Given the description of an element on the screen output the (x, y) to click on. 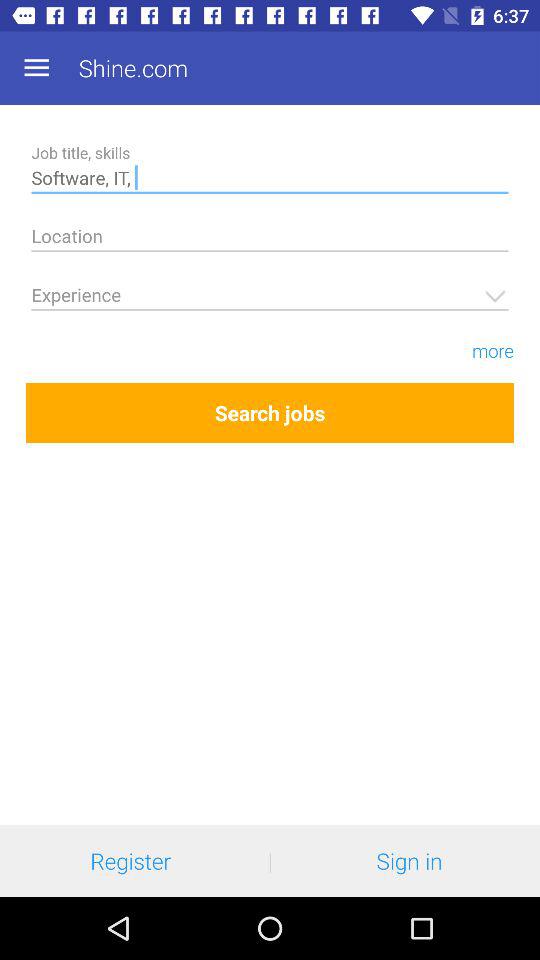
enter the experience (269, 298)
